Given the description of an element on the screen output the (x, y) to click on. 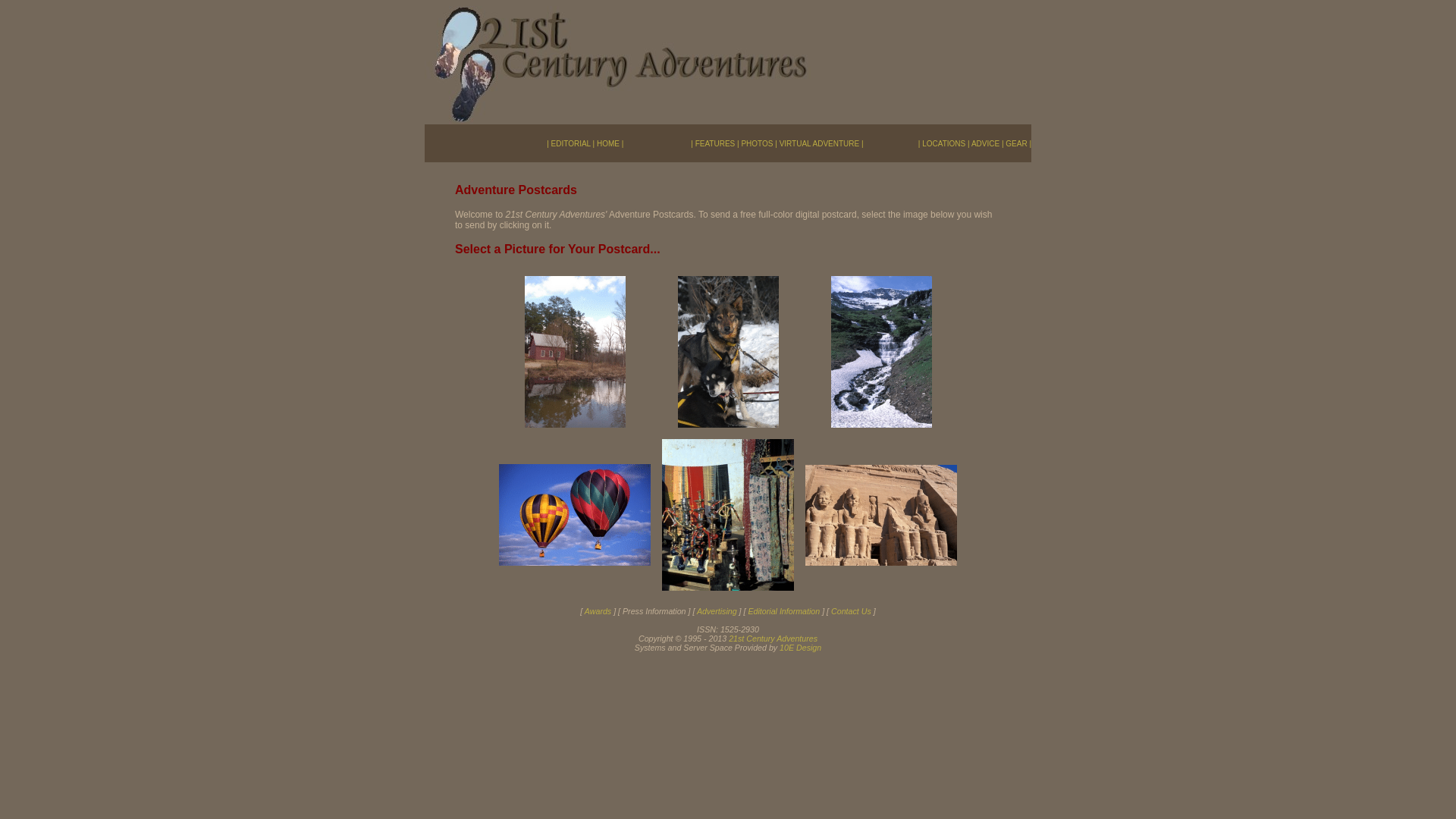
HOME Element type: text (607, 143)
LOCATIONS Element type: text (943, 143)
GEAR Element type: text (1015, 143)
PHOTOS Element type: text (756, 143)
10E Design Element type: text (800, 647)
21st Century Adventures Element type: text (772, 638)
VIRTUAL ADVENTURE Element type: text (819, 143)
Awards Element type: text (597, 610)
Editorial Information Element type: text (783, 610)
FEATURES Element type: text (715, 143)
ADVICE Element type: text (985, 143)
EDITORIAL Element type: text (570, 143)
Advertising Element type: text (716, 610)
Contact Us Element type: text (851, 610)
